Given the description of an element on the screen output the (x, y) to click on. 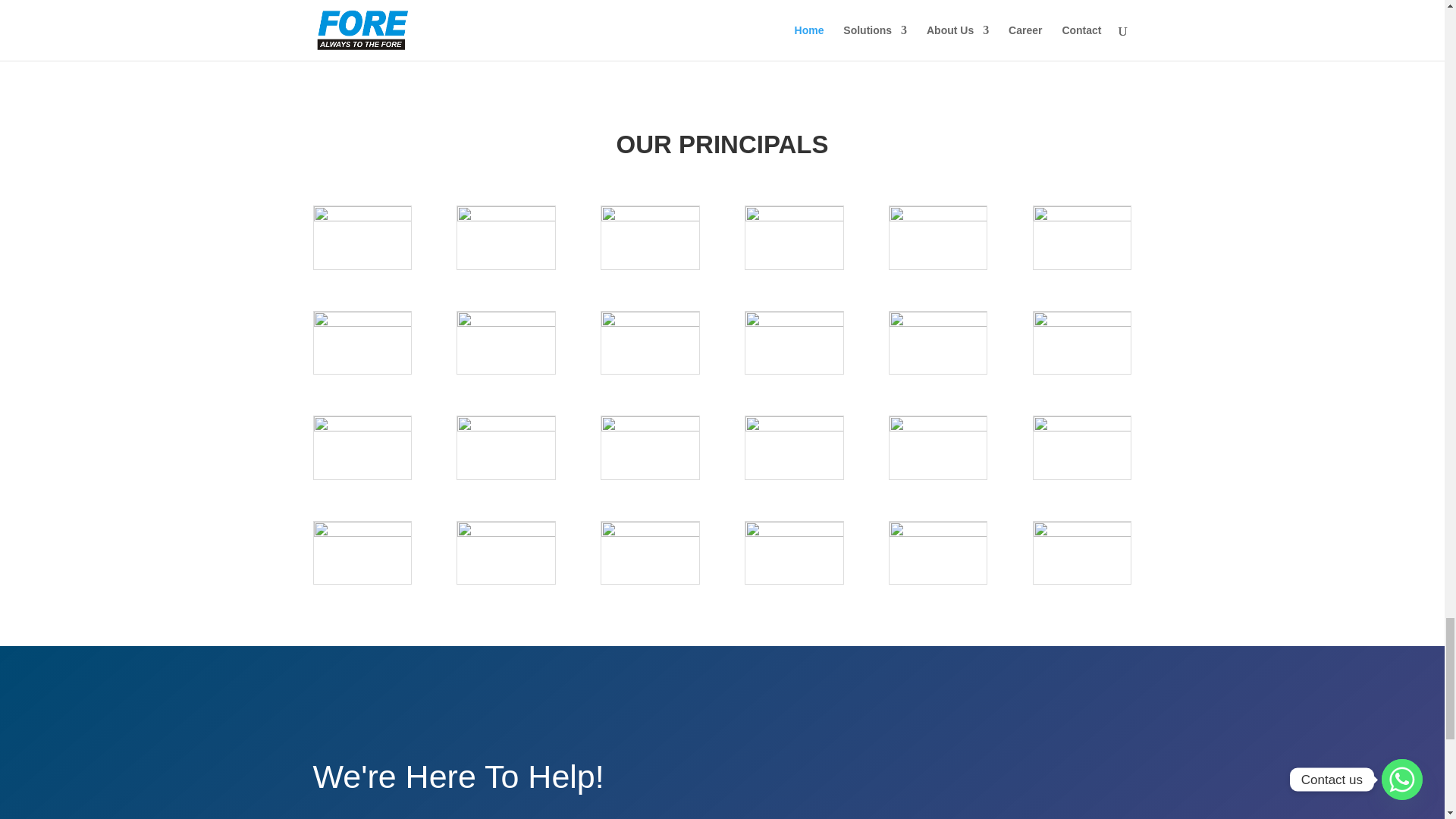
checkpoint (1082, 237)
brocade (794, 237)
apc (505, 237)
Fortinet (794, 343)
IBM (362, 447)
commscope (505, 343)
Cambium (938, 237)
dell (649, 343)
acer-1 (362, 237)
huawai (1082, 343)
cisco (362, 343)
arcserve (649, 237)
Hikvision (938, 343)
